Given the description of an element on the screen output the (x, y) to click on. 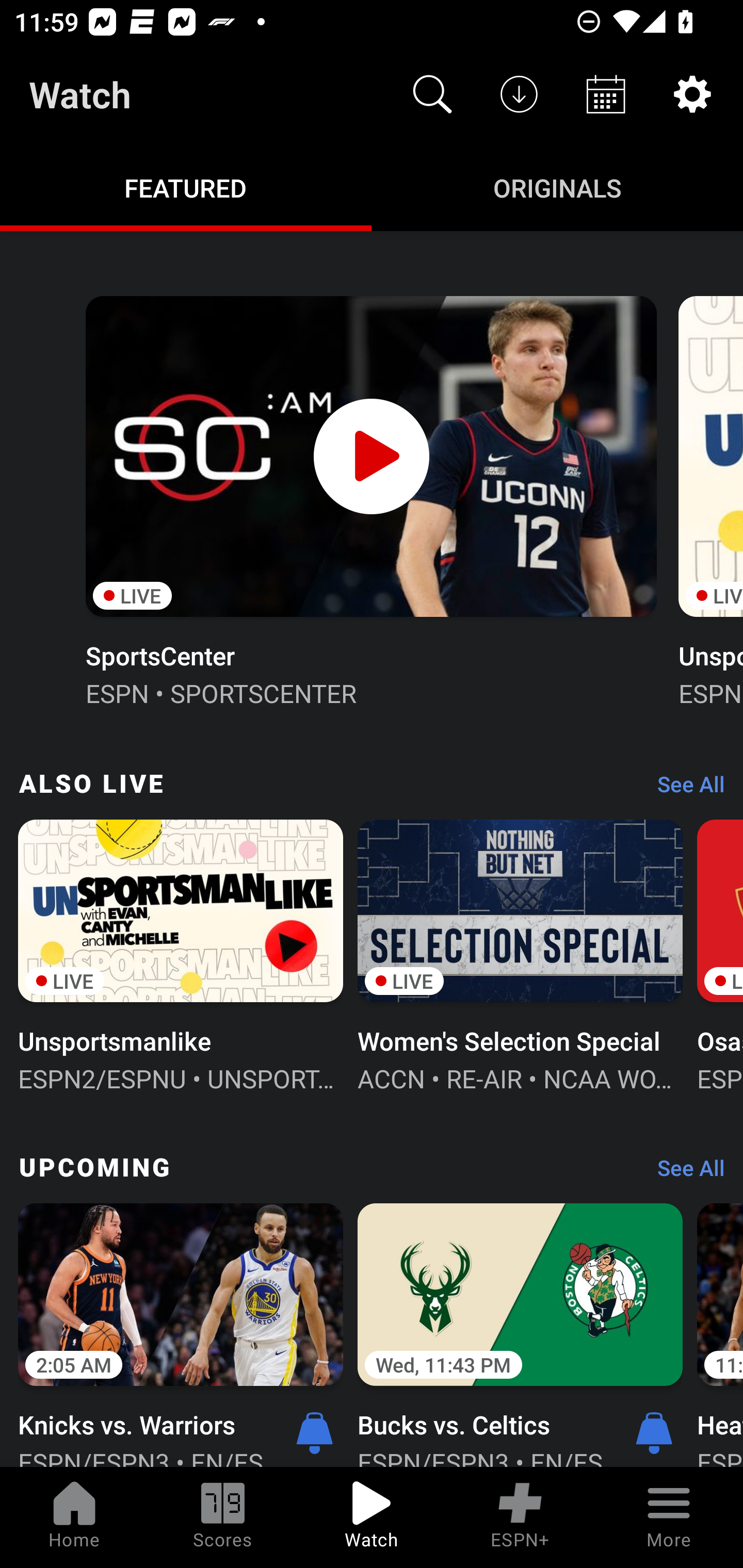
Search (432, 93)
Downloads (518, 93)
Schedule (605, 93)
Settings (692, 93)
Originals ORIGINALS (557, 187)
 LIVE SportsCenter ESPN • SPORTSCENTER (370, 499)
See All (683, 788)
See All (683, 1172)
Home (74, 1517)
Scores (222, 1517)
ESPN+ (519, 1517)
More (668, 1517)
